Given the description of an element on the screen output the (x, y) to click on. 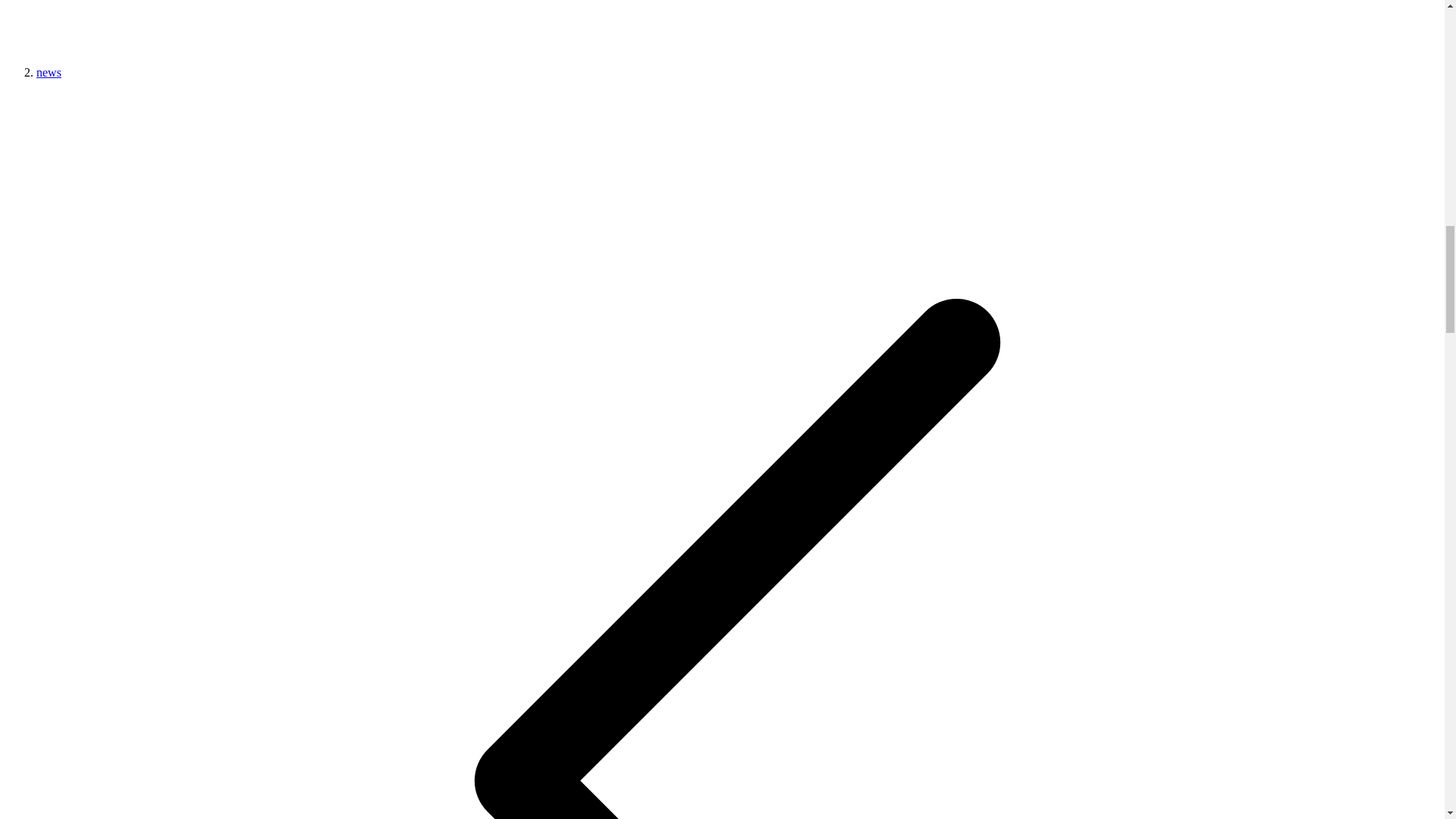
news (48, 72)
